Given the description of an element on the screen output the (x, y) to click on. 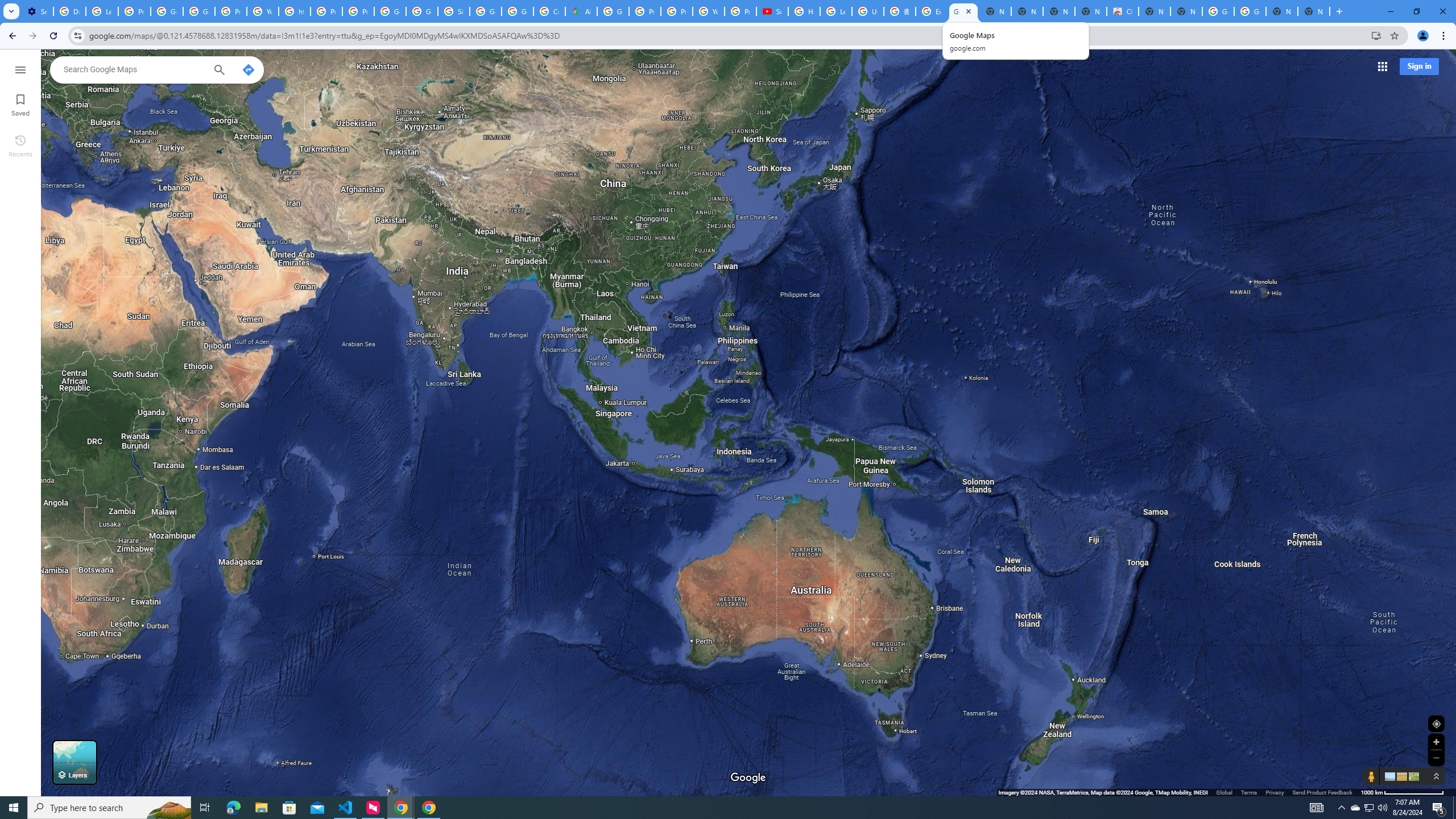
1000 km (1401, 792)
Google Maps (963, 11)
Show Your Location (1436, 723)
Delete photos & videos - Computer - Google Photos Help (69, 11)
